Given the description of an element on the screen output the (x, y) to click on. 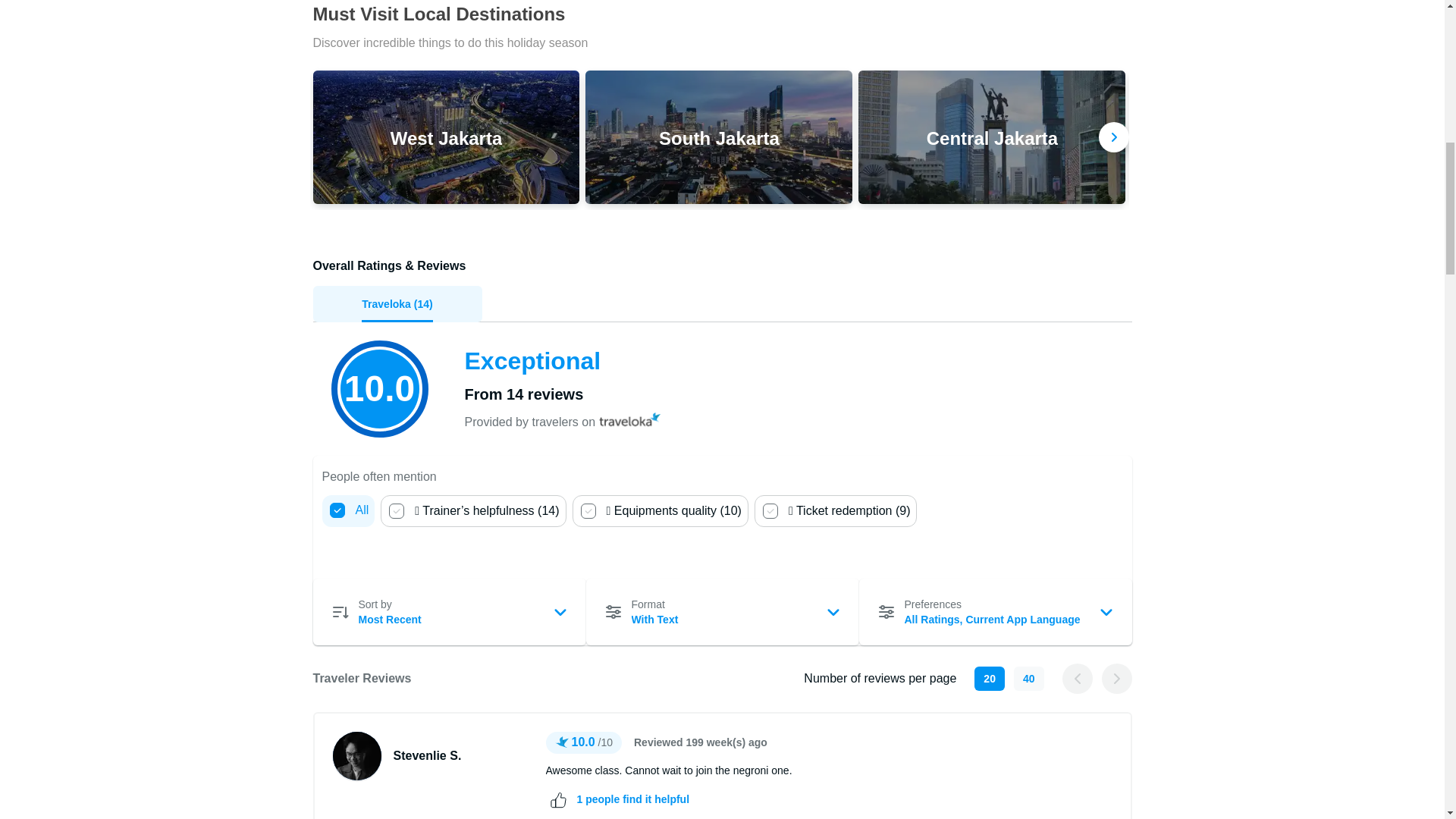
Central Jakarta (992, 136)
West Jakarta (446, 136)
South Jakarta (718, 136)
